Given the description of an element on the screen output the (x, y) to click on. 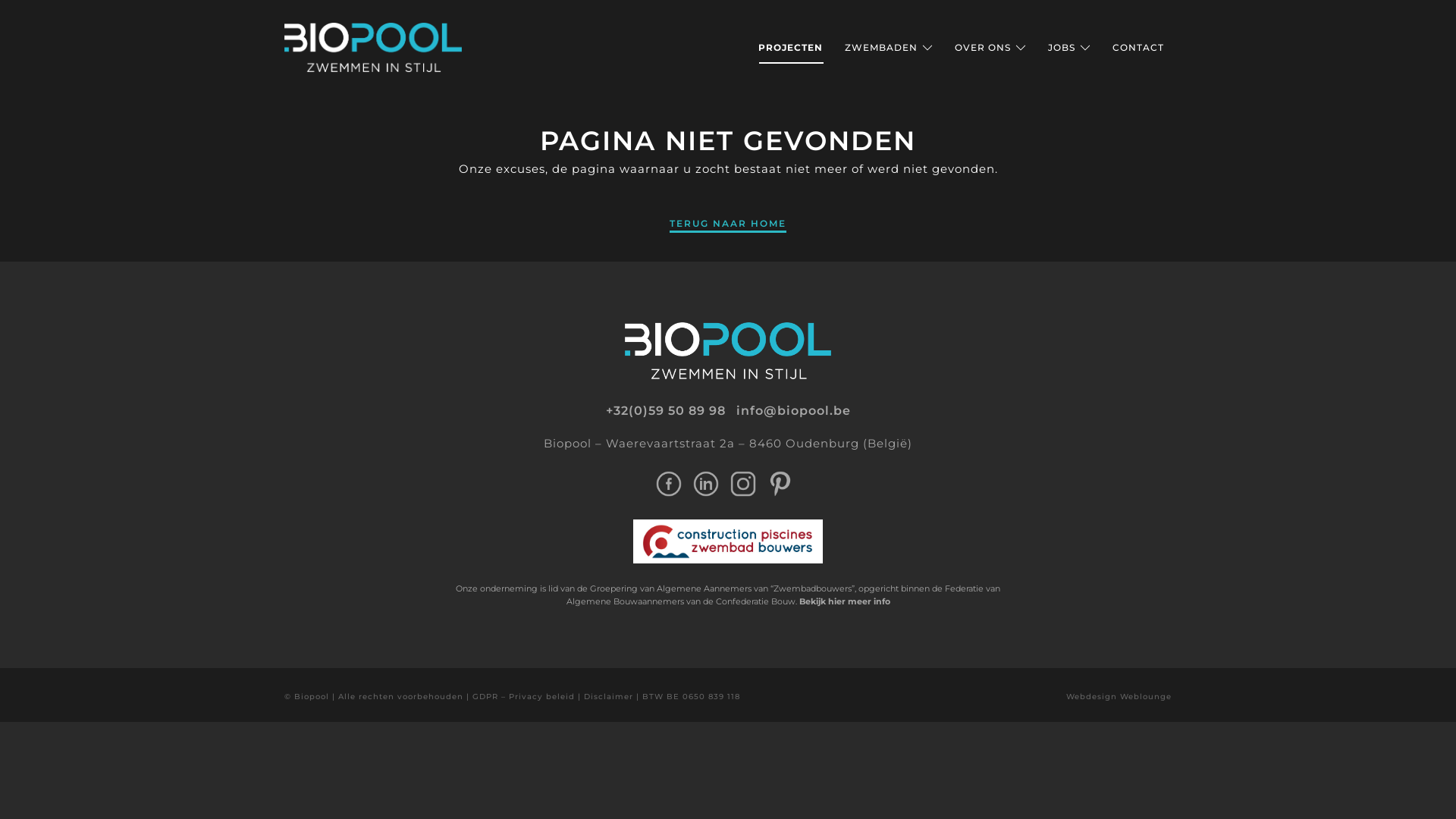
JOBS Element type: text (1069, 47)
Disclaimer Element type: text (608, 696)
info@biopool.be Element type: text (792, 410)
Volg Biopool op Facebook Element type: hover (667, 482)
Webdesign Weblounge Element type: text (1118, 696)
Volg Biopool op LinkedIn Element type: hover (705, 482)
ZWEMBADEN Element type: text (888, 47)
PROJECTEN Element type: text (790, 47)
Volg Biopool op Pinterest Element type: hover (780, 482)
Bekijk hier meer info Element type: text (844, 601)
CONTACT Element type: text (1138, 47)
+32(0)59 50 89 98 Element type: text (664, 410)
Volg Biopool op Instagram Element type: hover (742, 482)
TERUG NAAR HOME Element type: text (727, 222)
OVER ONS Element type: text (990, 47)
